Given the description of an element on the screen output the (x, y) to click on. 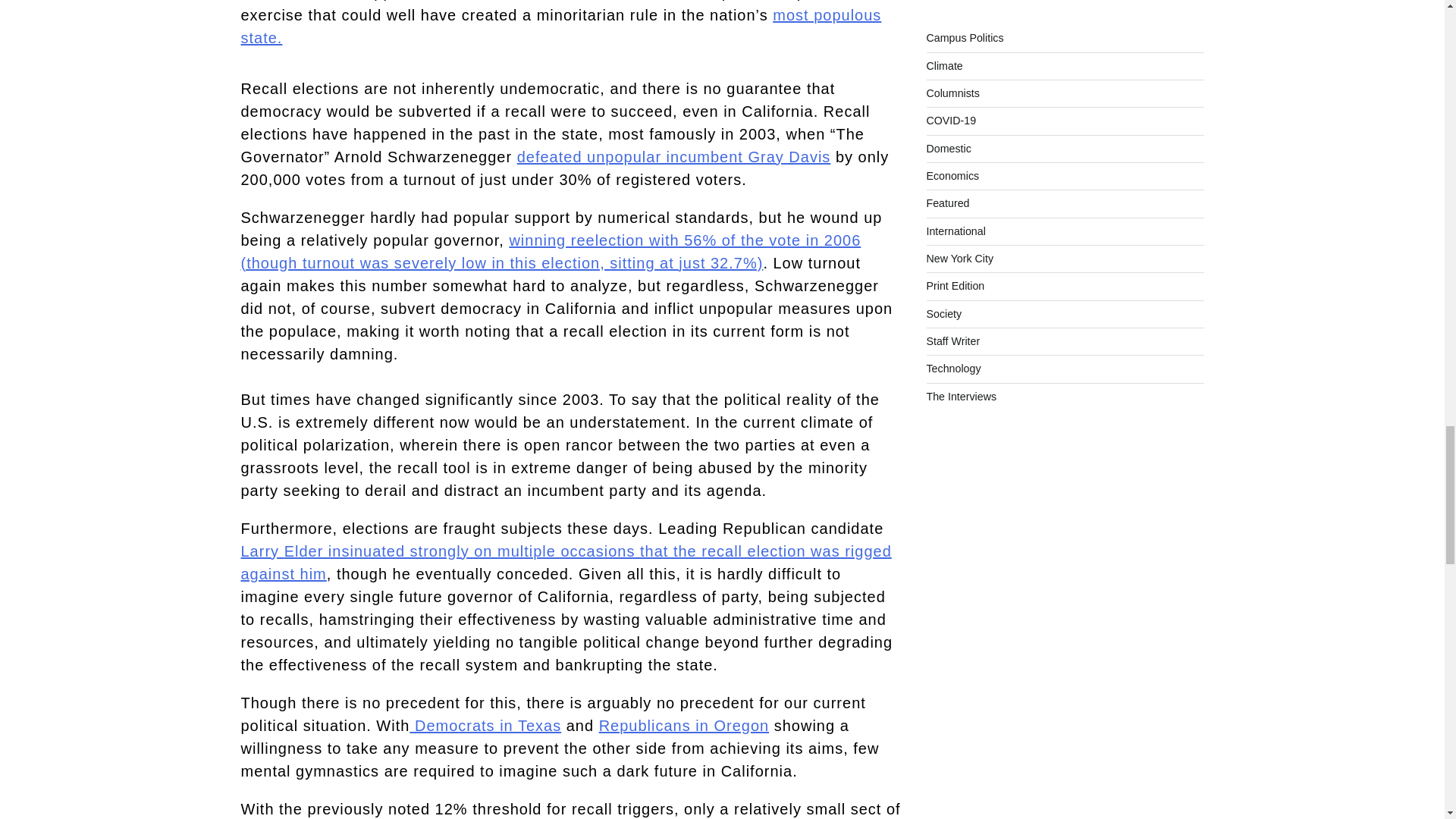
Democrats in Texas (484, 725)
most populous state. (561, 25)
Republicans in Oregon (683, 725)
defeated unpopular incumbent Gray Davis (673, 156)
